Given the description of an element on the screen output the (x, y) to click on. 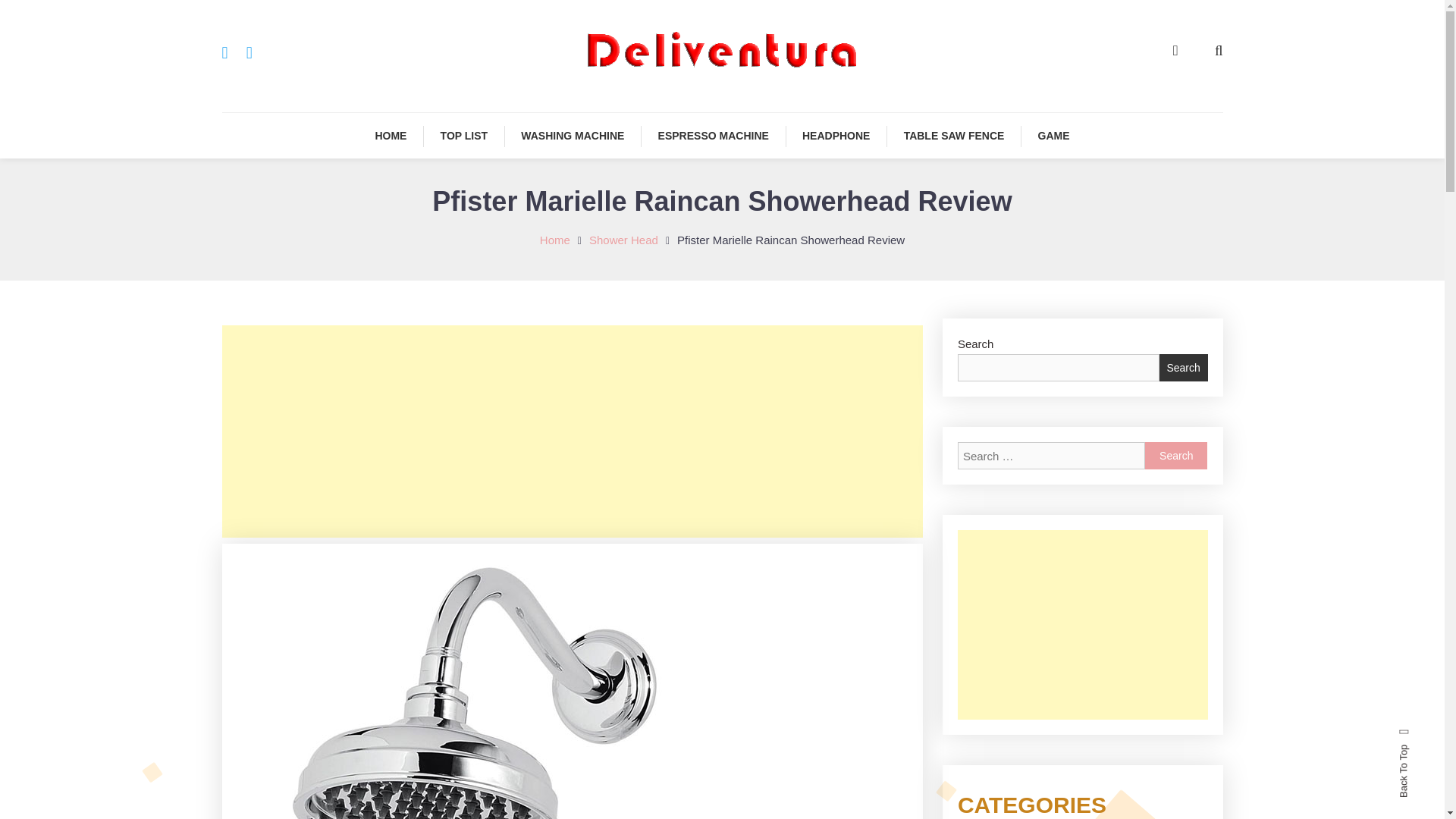
Shower Head (623, 239)
HOME (390, 135)
Search (768, 432)
ESPRESSO MACHINE (713, 135)
Advertisement (1083, 624)
HEADPHONE (836, 135)
Home (555, 239)
TABLE SAW FENCE (954, 135)
WASHING MACHINE (572, 135)
